Given the description of an element on the screen output the (x, y) to click on. 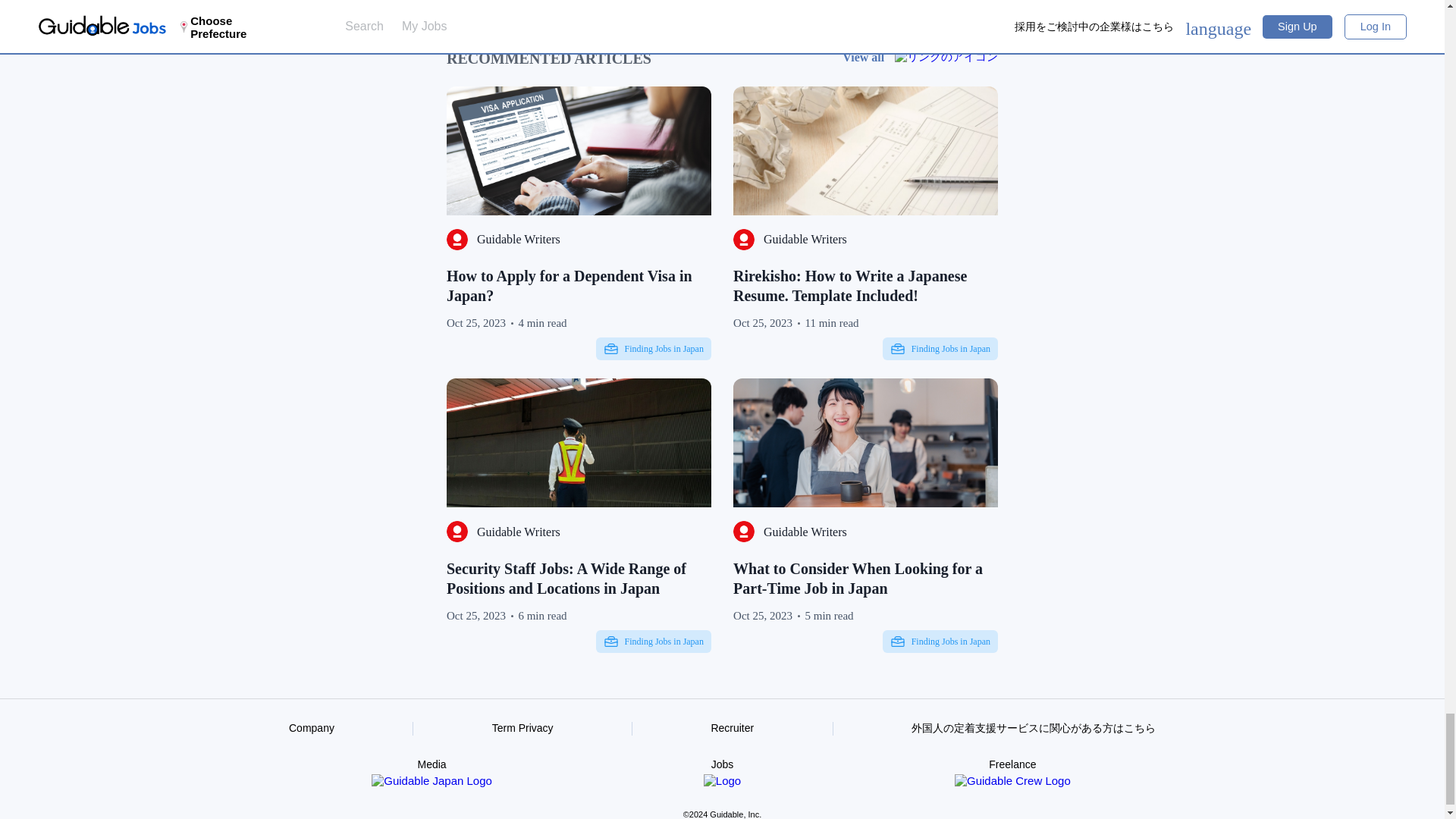
How to Apply for a Dependent Visa in Japan? (578, 285)
View all (920, 55)
translation missing: en.candidate.layouts.footer.recruiter (732, 727)
translation missing: en.candidate.layouts.footer.company (311, 727)
